Given the description of an element on the screen output the (x, y) to click on. 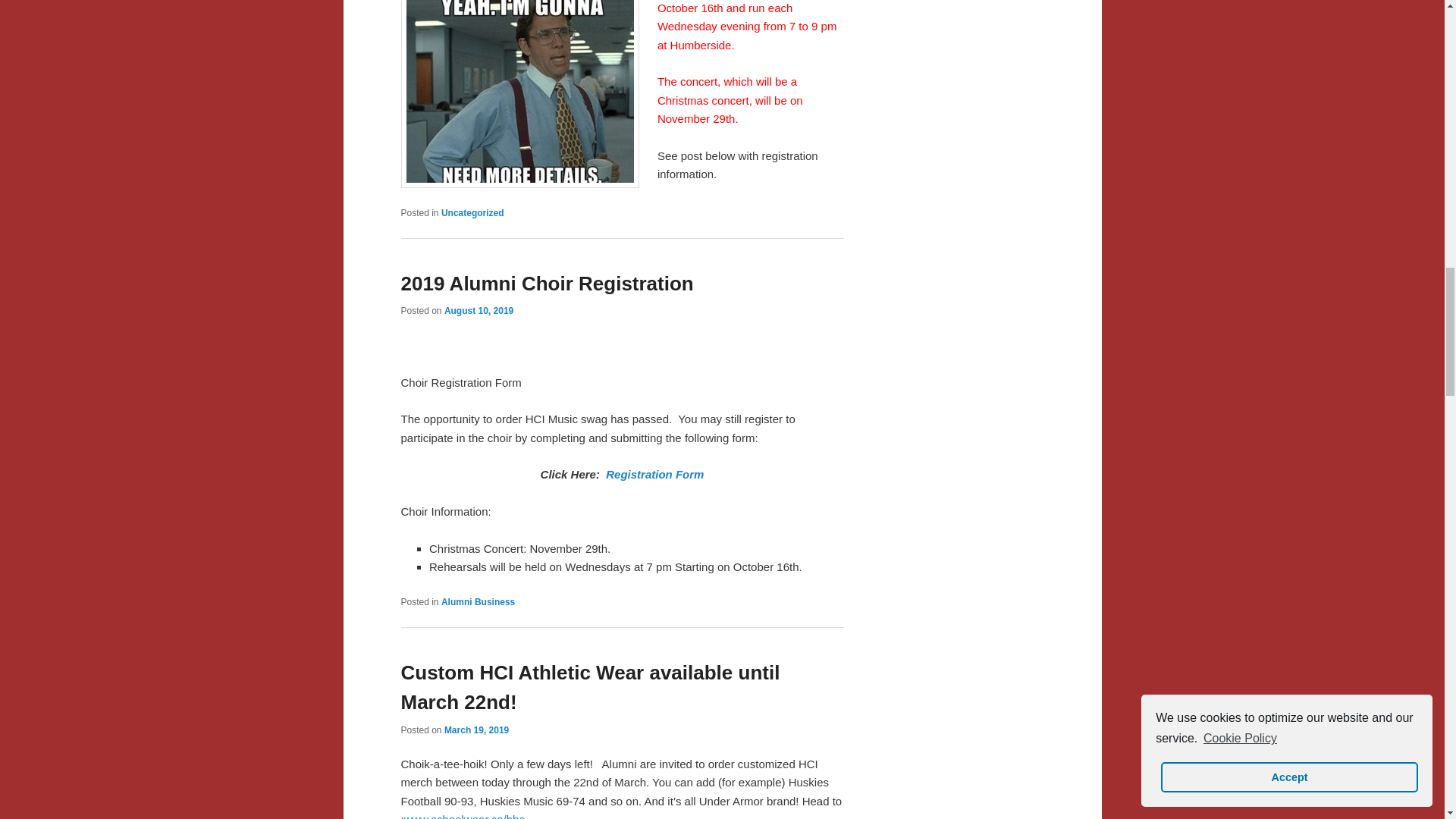
10:00 pm (476, 729)
4:36 pm (478, 310)
